Given the description of an element on the screen output the (x, y) to click on. 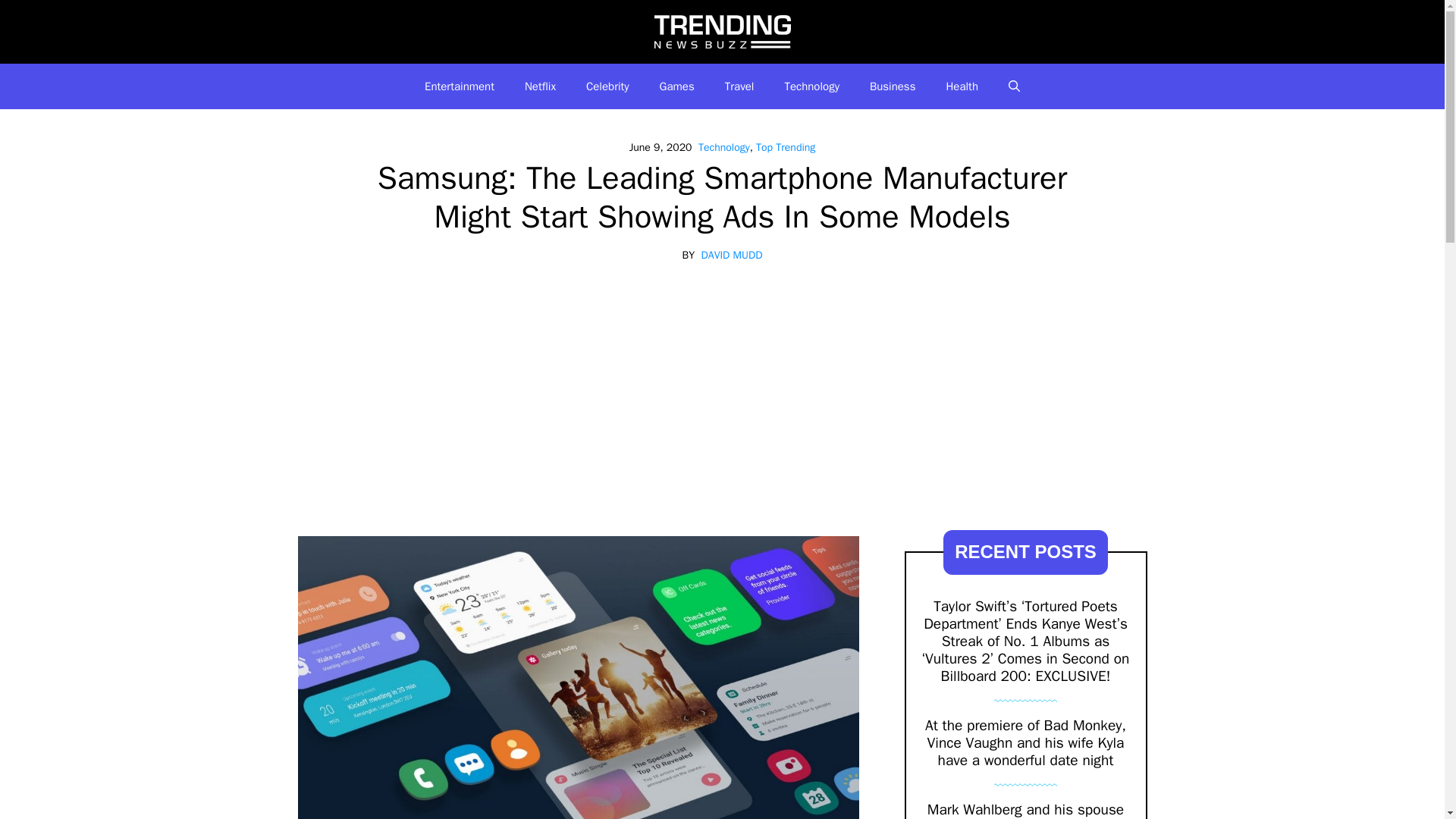
Travel (740, 85)
Games (677, 85)
Health (961, 85)
Entertainment (459, 85)
Top Trending (785, 146)
DAVID MUDD (731, 254)
Netflix (539, 85)
Celebrity (607, 85)
Business (892, 85)
